Given the description of an element on the screen output the (x, y) to click on. 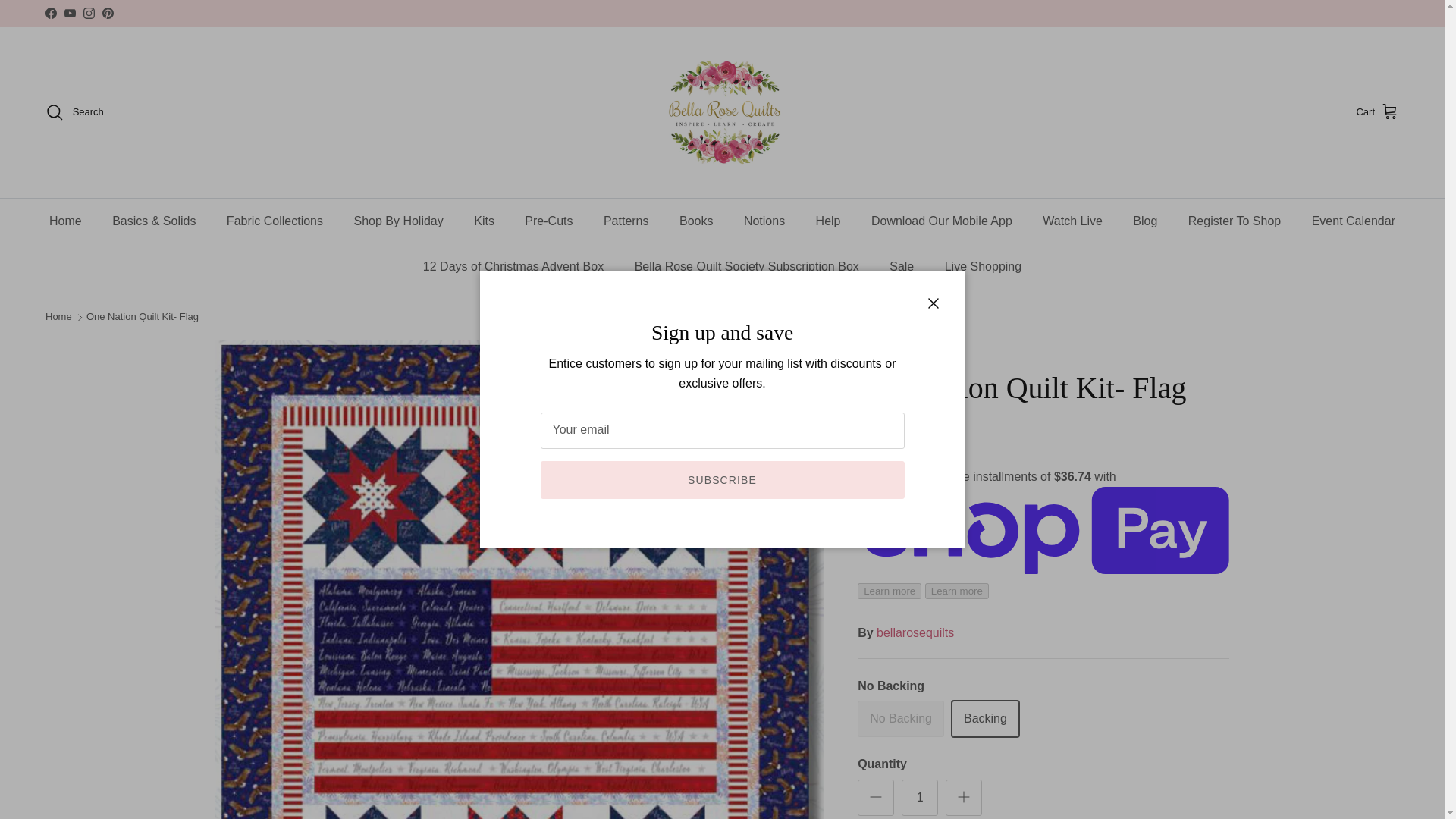
bellarosequilts on Pinterest (107, 12)
bellarosequilts on Instagram (88, 12)
Search (74, 112)
1 (919, 797)
YouTube (69, 12)
Home (65, 221)
Sold out (900, 719)
Cart (1377, 112)
bellarosequilts on YouTube (69, 12)
Fabric Collections (274, 221)
Instagram (88, 12)
Pinterest (107, 12)
Facebook (50, 12)
bellarosequilts (722, 112)
bellarosequilts on Facebook (50, 12)
